Given the description of an element on the screen output the (x, y) to click on. 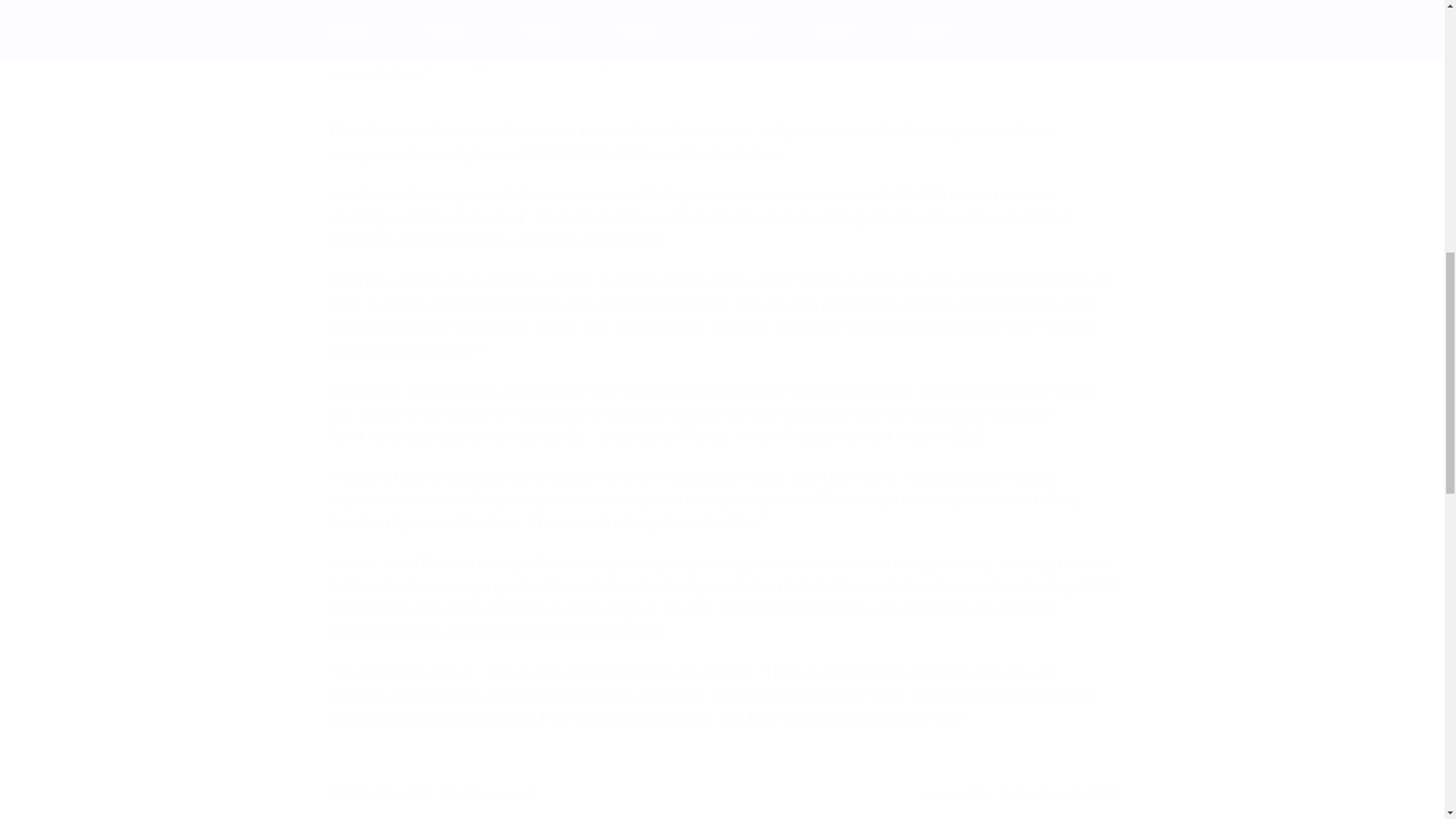
A EURO-themed flower arrangement near the Dnieper river (721, 22)
